Given the description of an element on the screen output the (x, y) to click on. 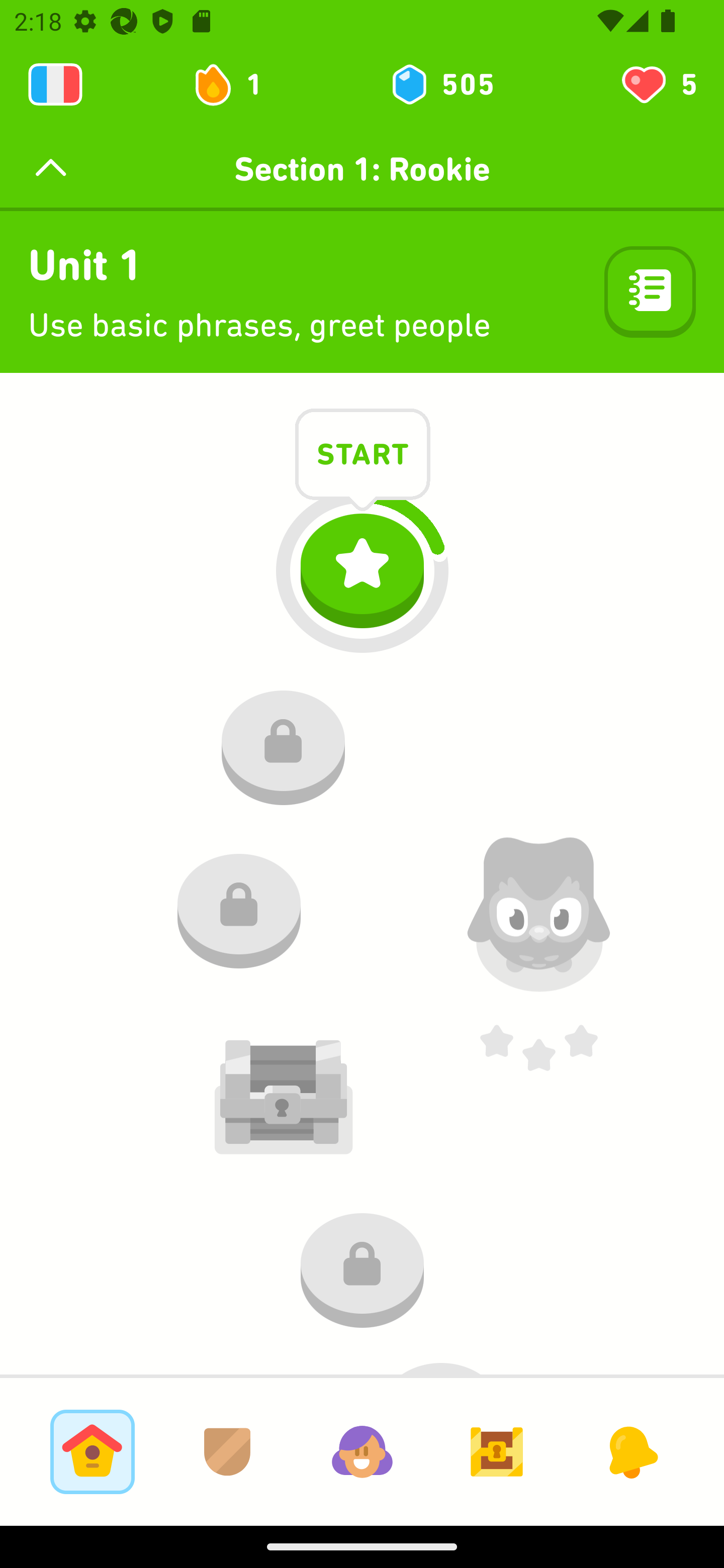
Learning 2131888976 (55, 84)
1 day streak 1 (236, 84)
505 (441, 84)
You have 5 hearts left 5 (657, 84)
Section 1: Rookie (362, 169)
START (362, 457)
Learn Tab (91, 1451)
Leagues Tab (227, 1451)
Profile Tab (361, 1451)
Goals Tab (496, 1451)
News Tab (631, 1451)
